Given the description of an element on the screen output the (x, y) to click on. 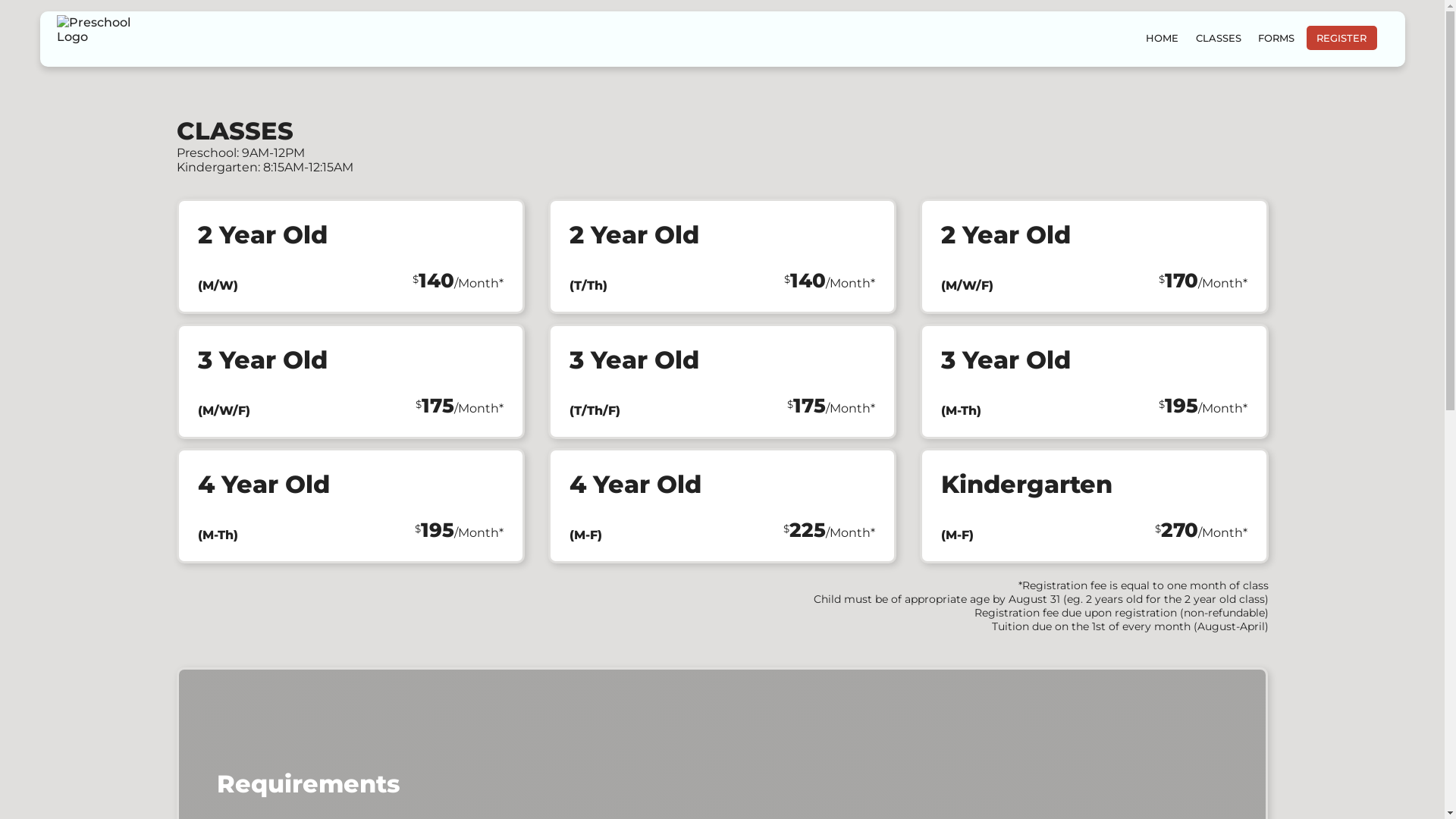
CLASSES Element type: text (1217, 37)
FORMS Element type: text (1275, 37)
REGISTER Element type: text (1341, 37)
HOME Element type: text (1161, 37)
